Given the description of an element on the screen output the (x, y) to click on. 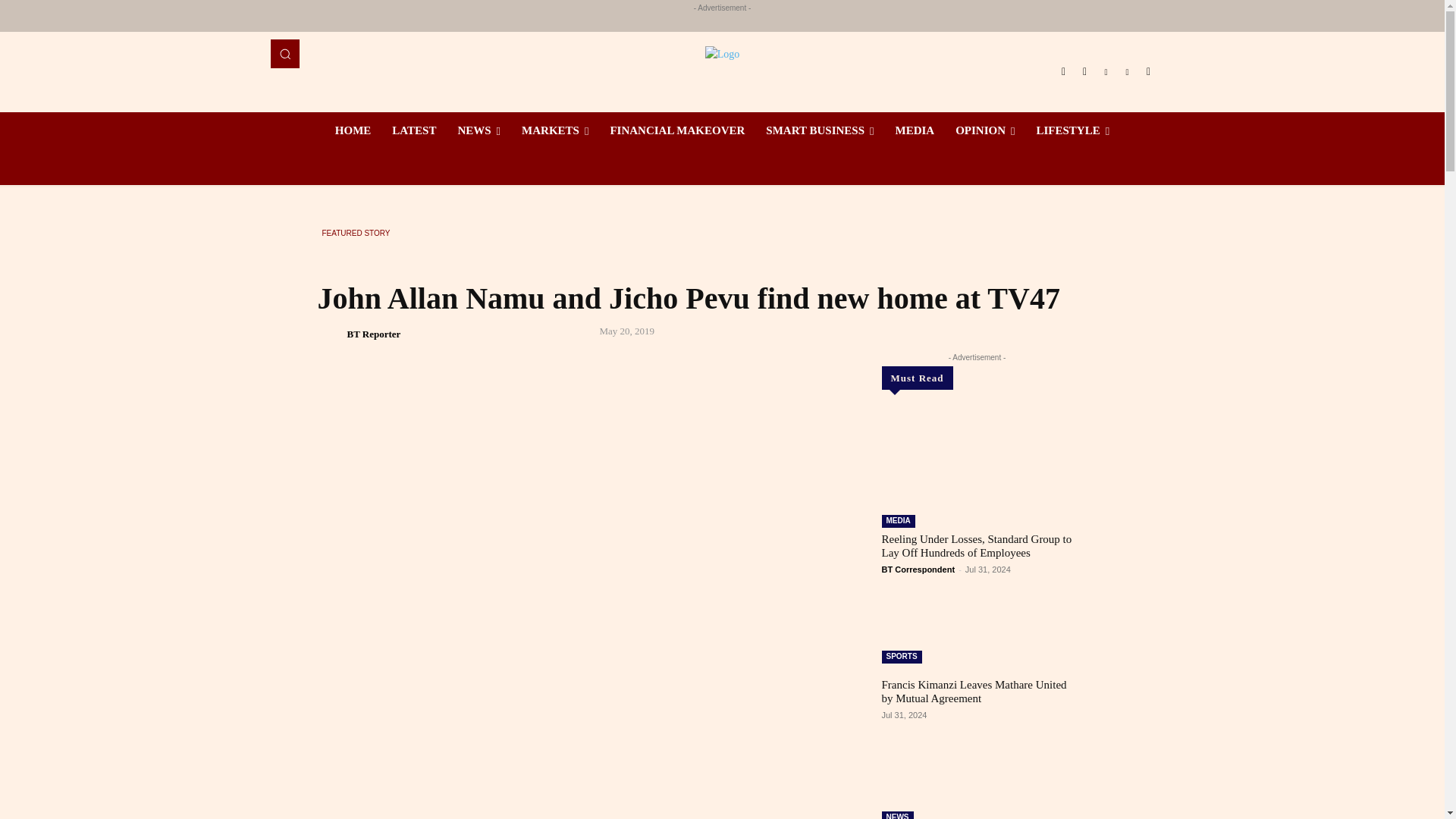
Youtube (1147, 71)
BT Reporter (330, 333)
Instagram (1084, 71)
Twitter (1126, 71)
Linkedin (1105, 71)
Facebook (1063, 71)
